Given the description of an element on the screen output the (x, y) to click on. 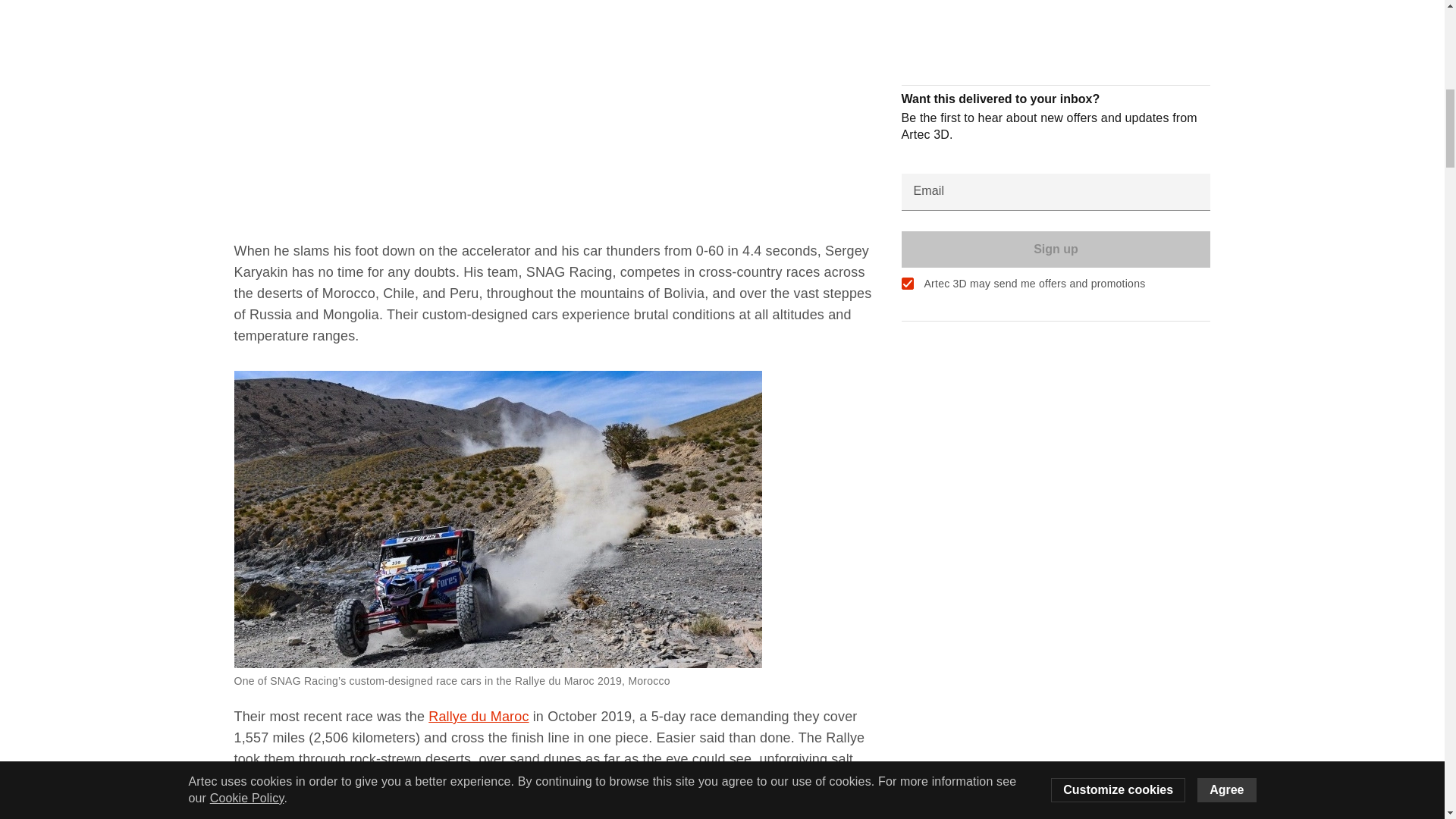
Sign up (1055, 6)
